Given the description of an element on the screen output the (x, y) to click on. 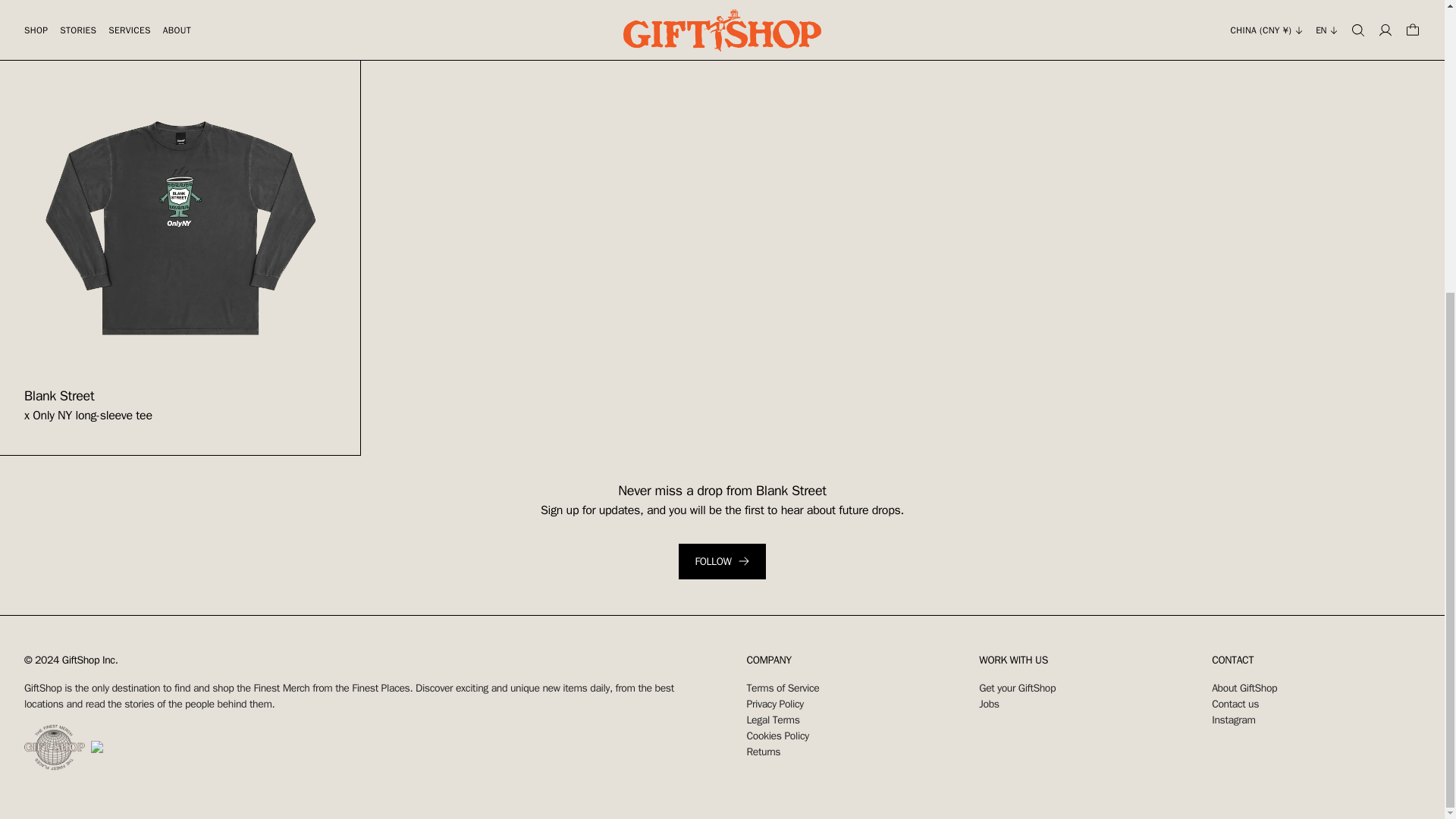
Privacy Policy (774, 703)
FOLLOW (721, 561)
Instagram (1233, 719)
Returns (762, 751)
translation missing: en.general.contact (1232, 658)
About GiftShop (1243, 687)
Contact us (1235, 703)
Get your GiftShop (1016, 687)
translation missing: en.general.company (767, 658)
Cookies Policy (776, 735)
